Given the description of an element on the screen output the (x, y) to click on. 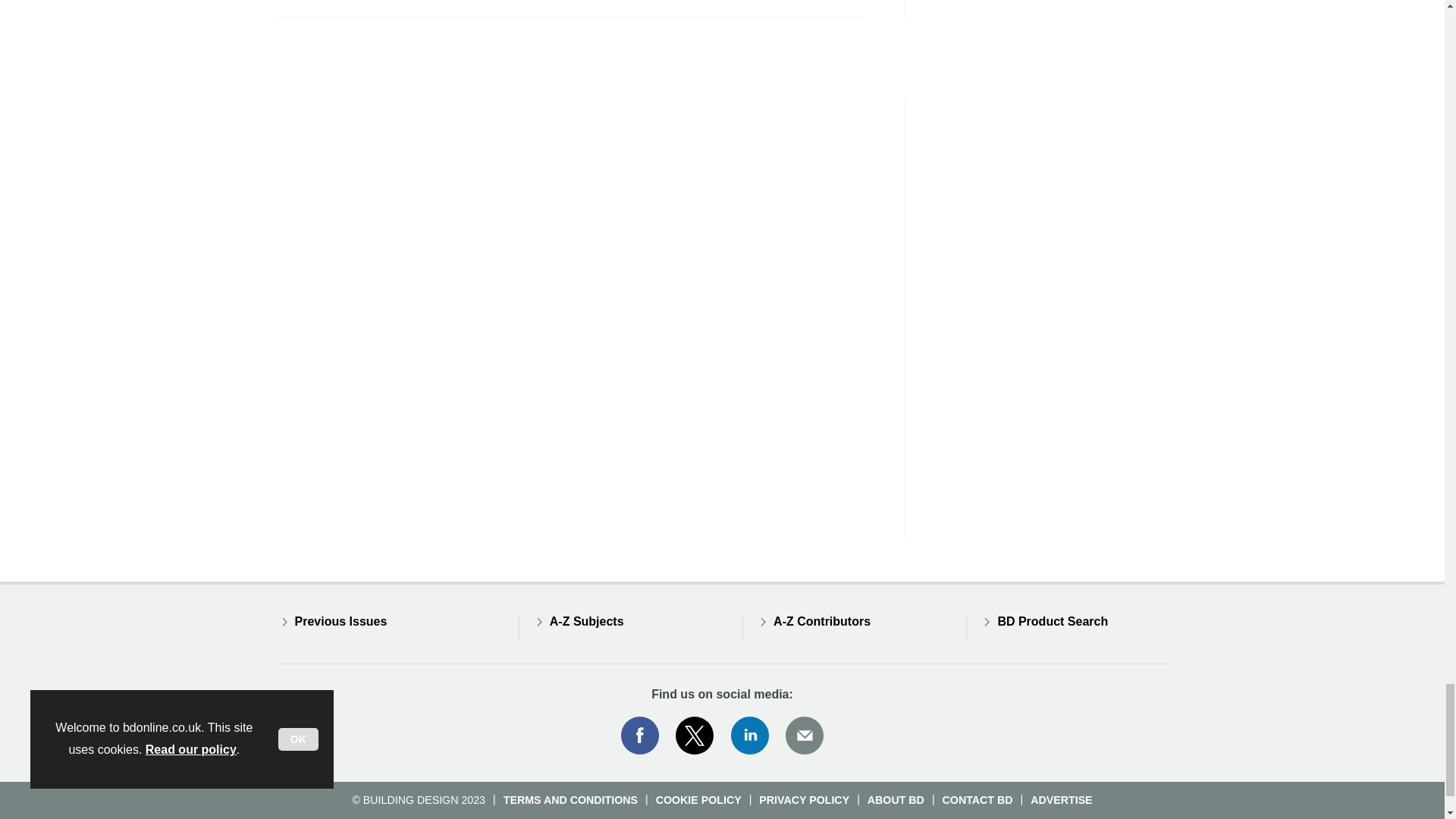
Connect with us on Twitter (694, 735)
Email us (804, 735)
Connect with us on Linked in (750, 735)
Connect with us on Facebook (639, 735)
